Given the description of an element on the screen output the (x, y) to click on. 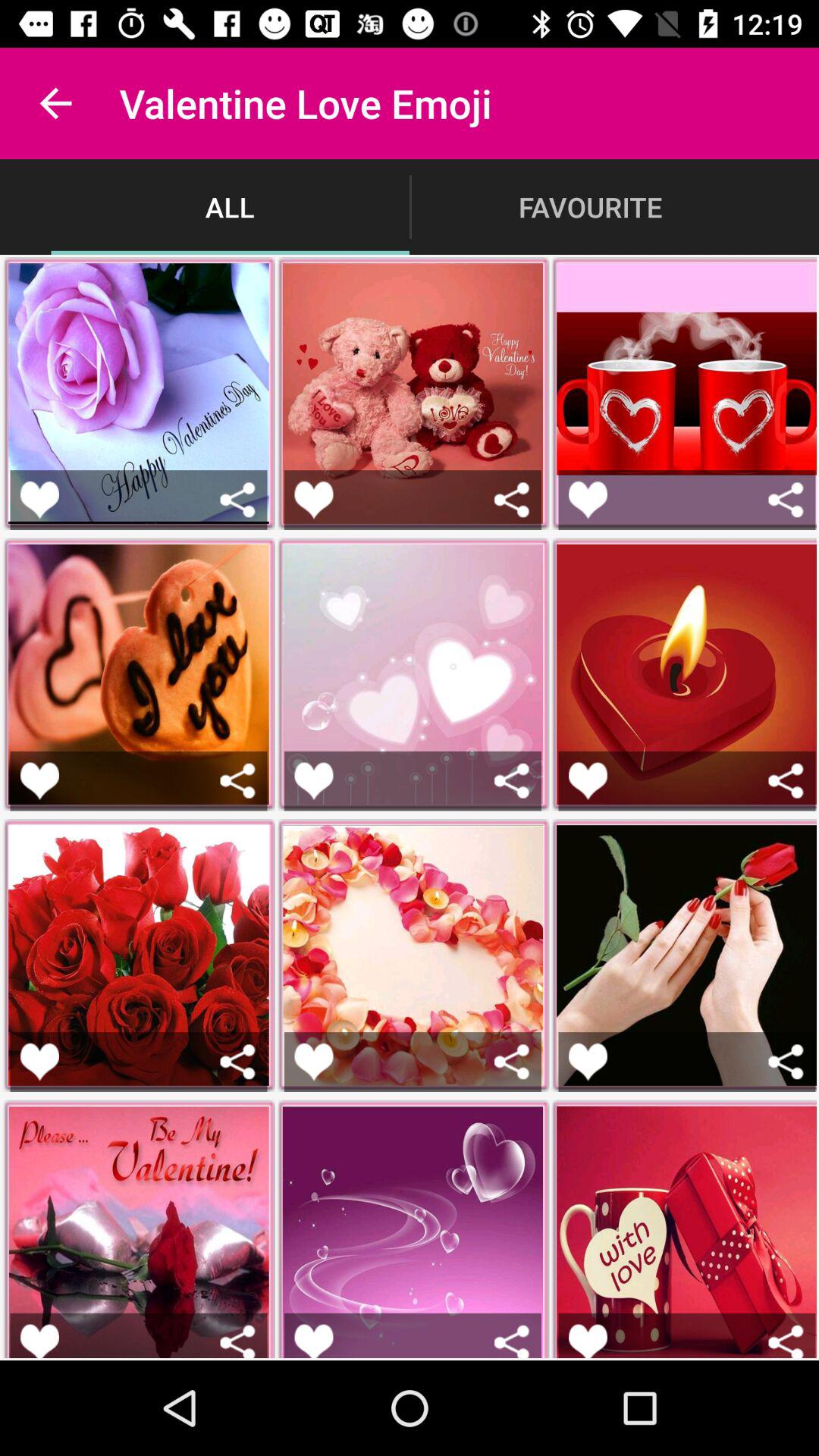
this is used to i love you (39, 780)
